Given the description of an element on the screen output the (x, y) to click on. 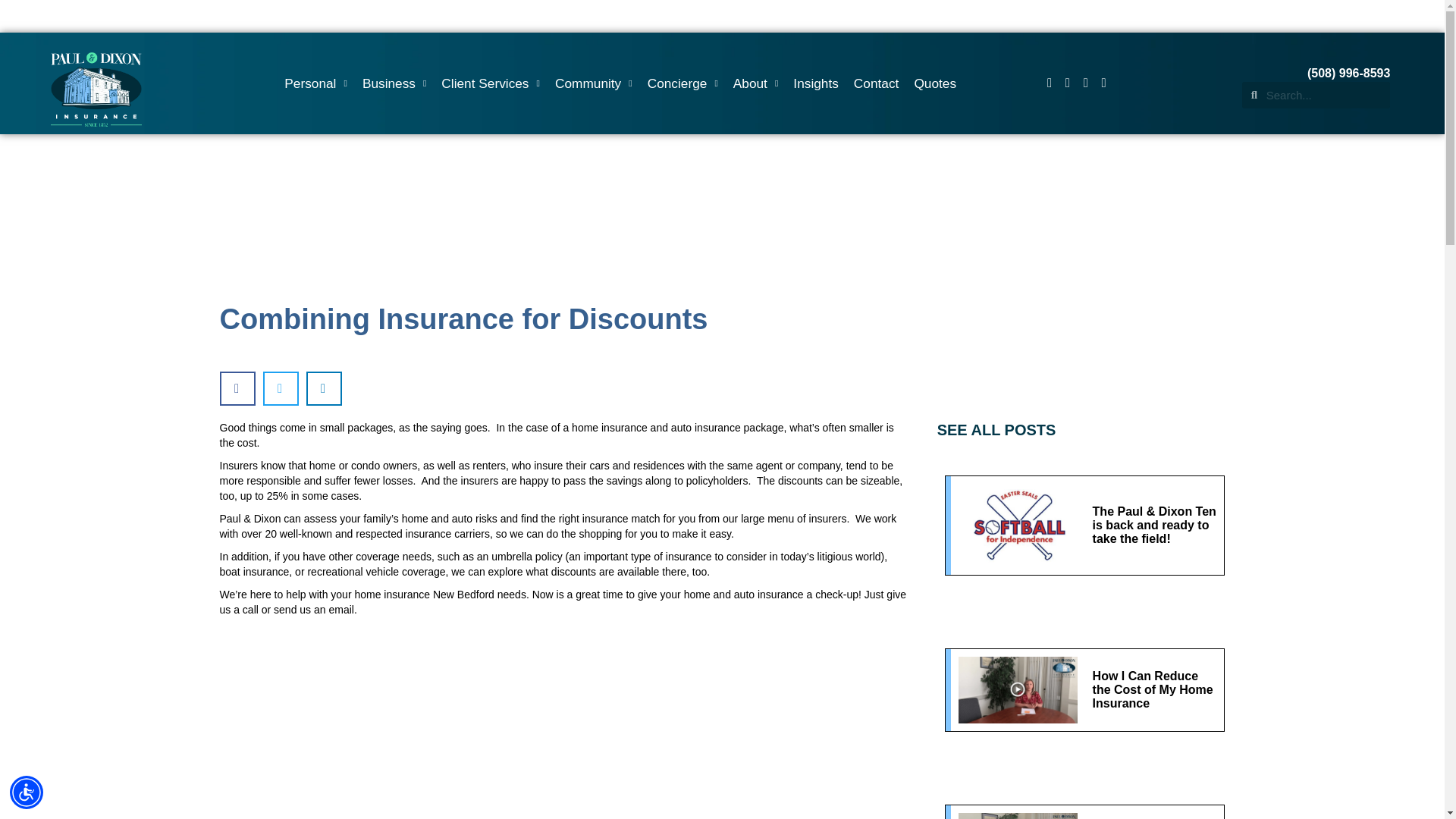
Business (394, 83)
Personal (315, 83)
Accessibility Menu (26, 792)
Client Services (490, 83)
Concierge (682, 83)
Community (593, 83)
